Given the description of an element on the screen output the (x, y) to click on. 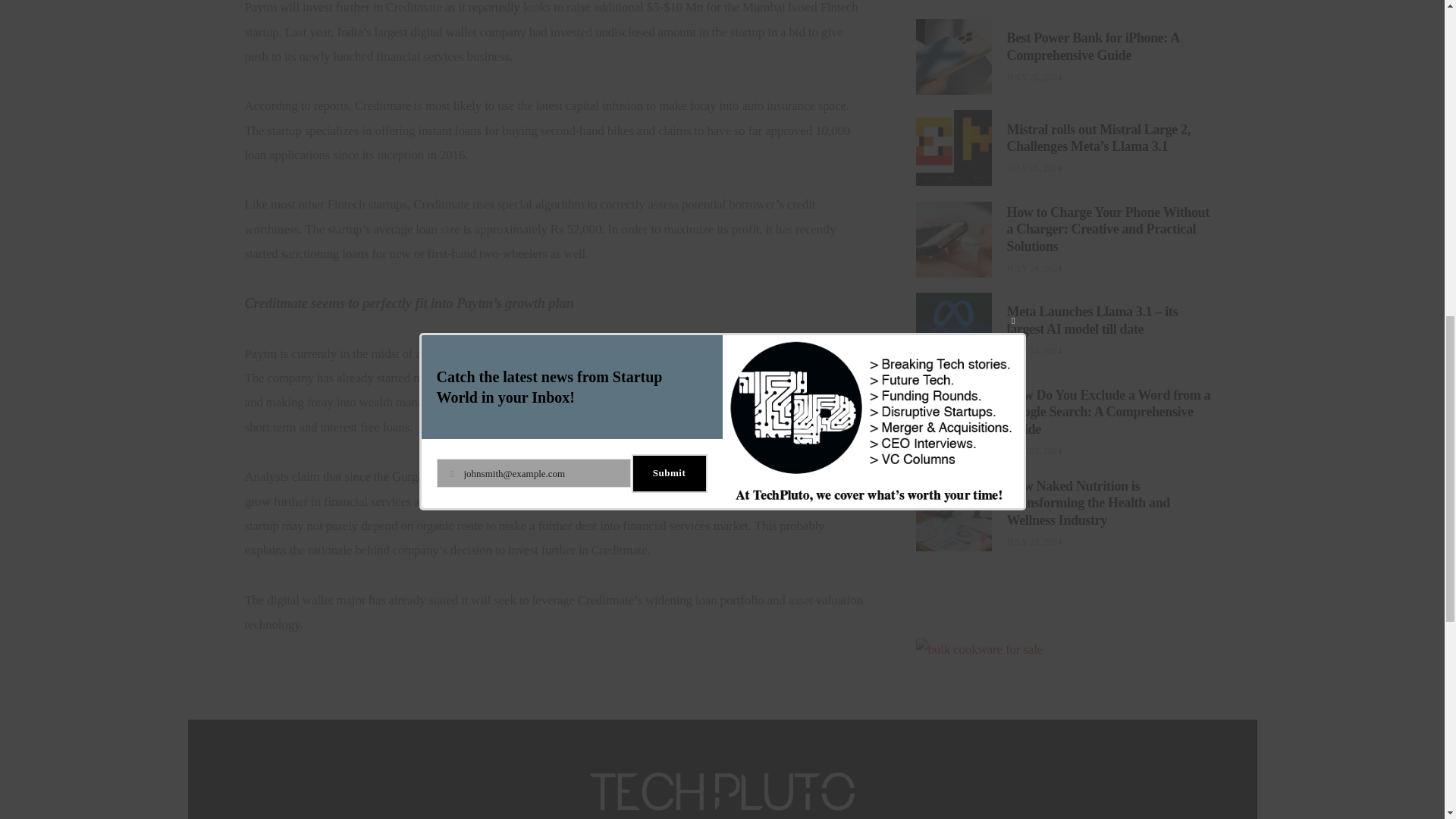
Get the latest kitchen gadgets (979, 617)
